Given the description of an element on the screen output the (x, y) to click on. 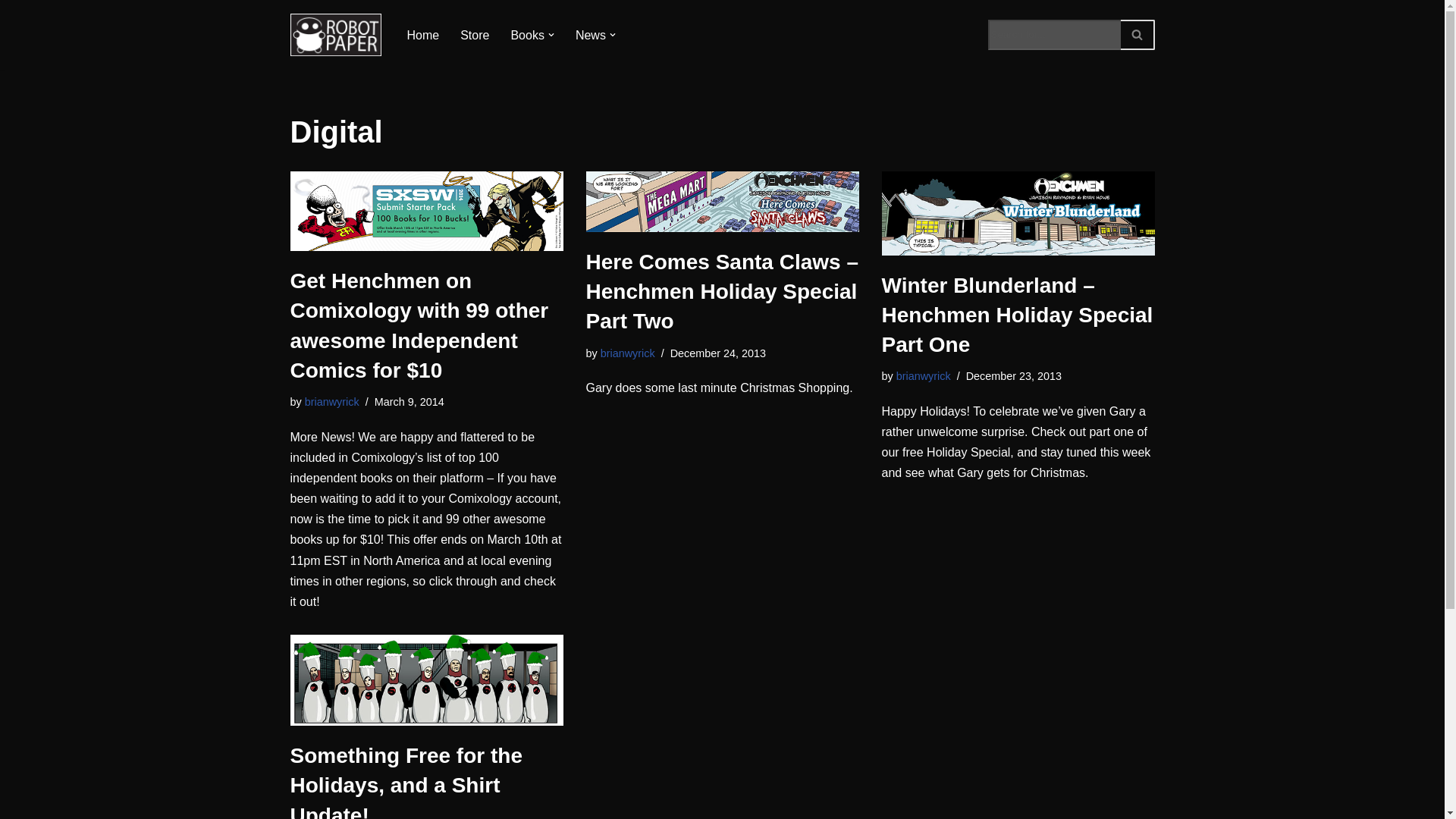
brianwyrick (331, 401)
Books (527, 35)
Store (474, 35)
Posts by brianwyrick (331, 401)
Home (422, 35)
brianwyrick (627, 353)
Posts by brianwyrick (923, 376)
Skip to content (11, 31)
Something Free for the Holidays, and a Shirt Update! (425, 679)
News (590, 35)
Posts by brianwyrick (627, 353)
